Given the description of an element on the screen output the (x, y) to click on. 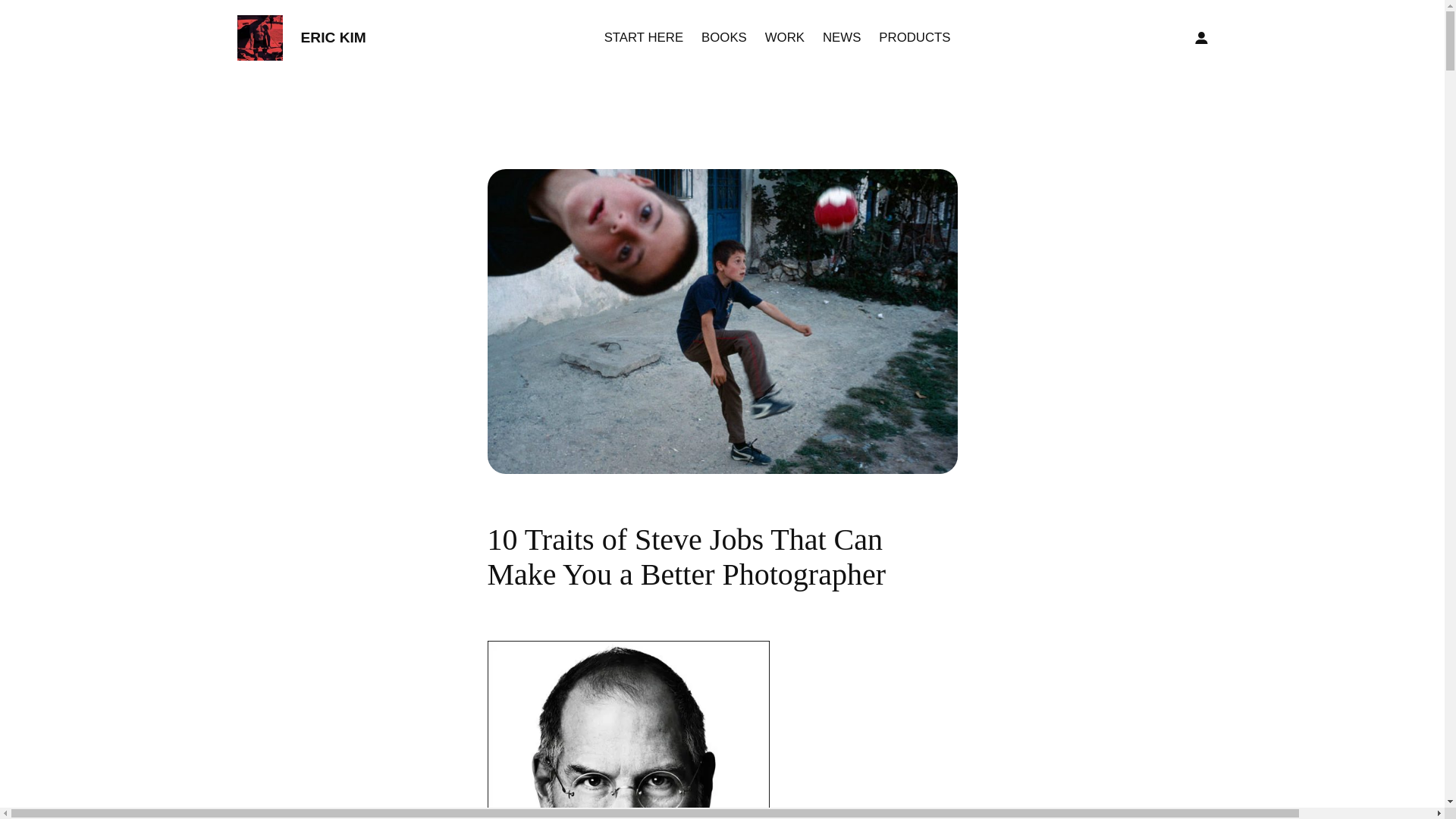
ERIC KIM (332, 37)
Books (723, 37)
PRODUCTS (914, 37)
WORK (785, 37)
START HERE (643, 37)
Shop (914, 37)
steve-jobs (627, 729)
Start here (643, 37)
Workshops (785, 37)
NEWS (841, 37)
BOOKS (723, 37)
